Given the description of an element on the screen output the (x, y) to click on. 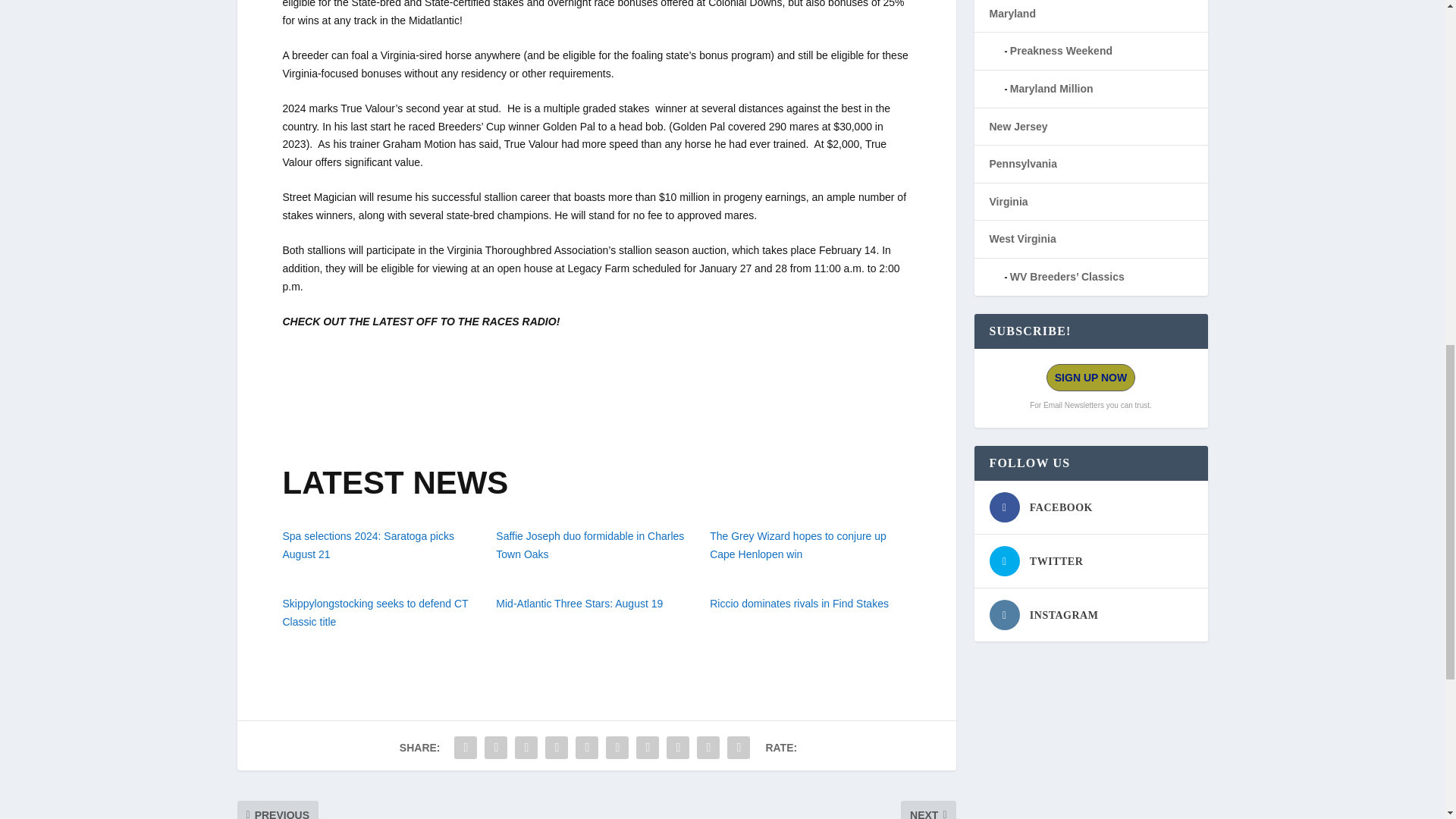
Share "Stallion True Valour moves to Virginia" via Print (738, 747)
Saffie Joseph duo formidable in Charles Town Oaks (590, 544)
Mid-Atlantic Three Stars: August 19 (579, 603)
Share "Stallion True Valour moves to Virginia" via Buffer (646, 747)
Skippylongstocking seeks to defend CT Classic title (374, 612)
Share "Stallion True Valour moves to Virginia" via Pinterest (587, 747)
Riccio dominates rivals in Find Stakes (799, 603)
Share "Stallion True Valour moves to Virginia" via LinkedIn (616, 747)
Share "Stallion True Valour moves to Virginia" via Tumblr (556, 747)
